Given the description of an element on the screen output the (x, y) to click on. 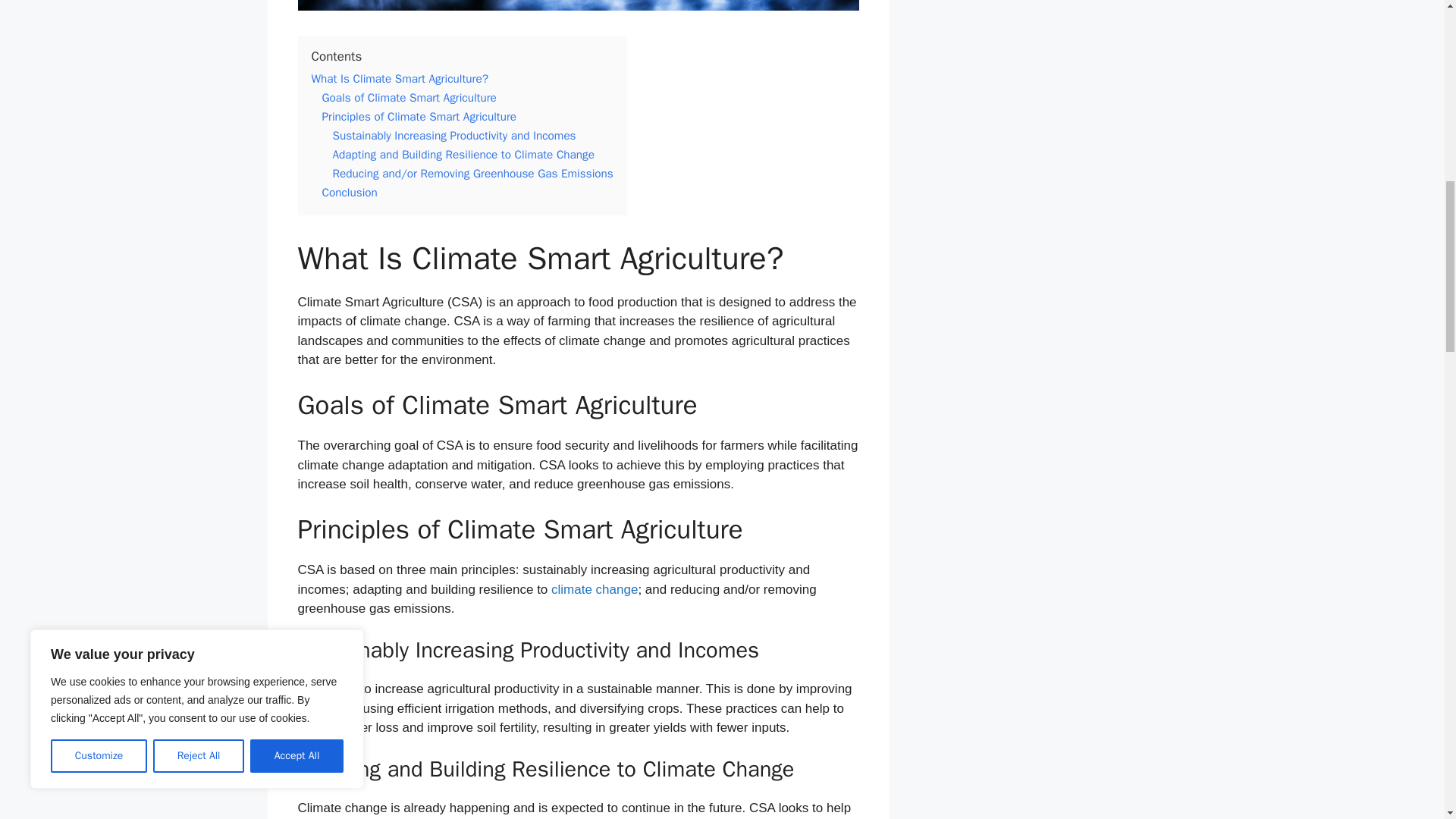
Adapting and Building Resilience to Climate Change (462, 154)
Goals of Climate Smart Agriculture (408, 97)
What Is Climate Smart Agriculture (578, 4)
What Is Climate Smart Agriculture? (399, 78)
climate change (594, 589)
Conclusion (349, 192)
Sustainably Increasing Productivity and Incomes (453, 135)
Principles of Climate Smart Agriculture (418, 116)
climate change (594, 589)
